Given the description of an element on the screen output the (x, y) to click on. 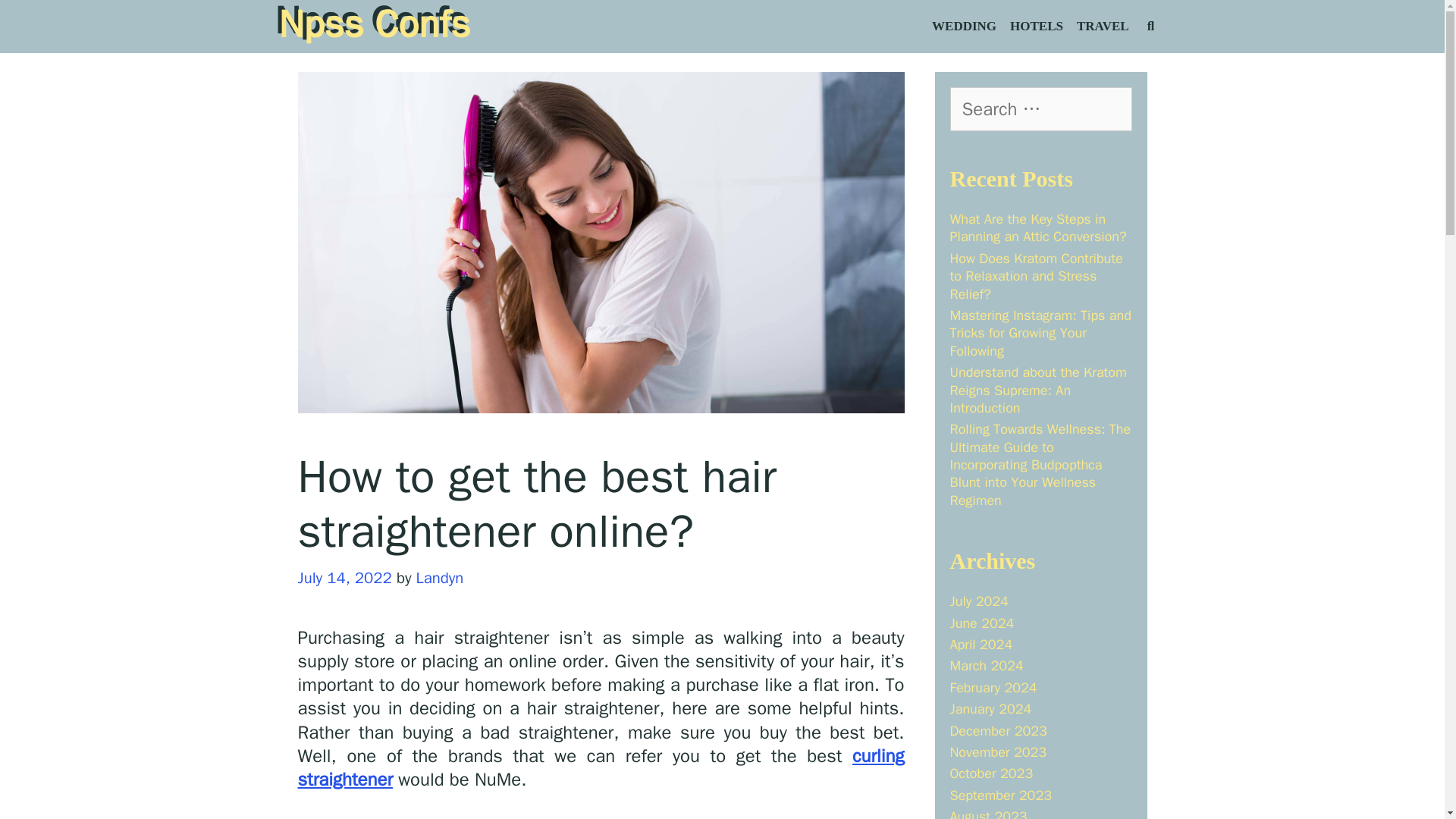
TRAVEL (1102, 26)
Landyn (440, 578)
November 2023 (997, 751)
Search (40, 20)
Search for: (1040, 108)
December 2023 (997, 730)
July 2024 (978, 600)
Understand about the Kratom Reigns Supreme: An Introduction (1037, 389)
9:01 am (344, 578)
